Given the description of an element on the screen output the (x, y) to click on. 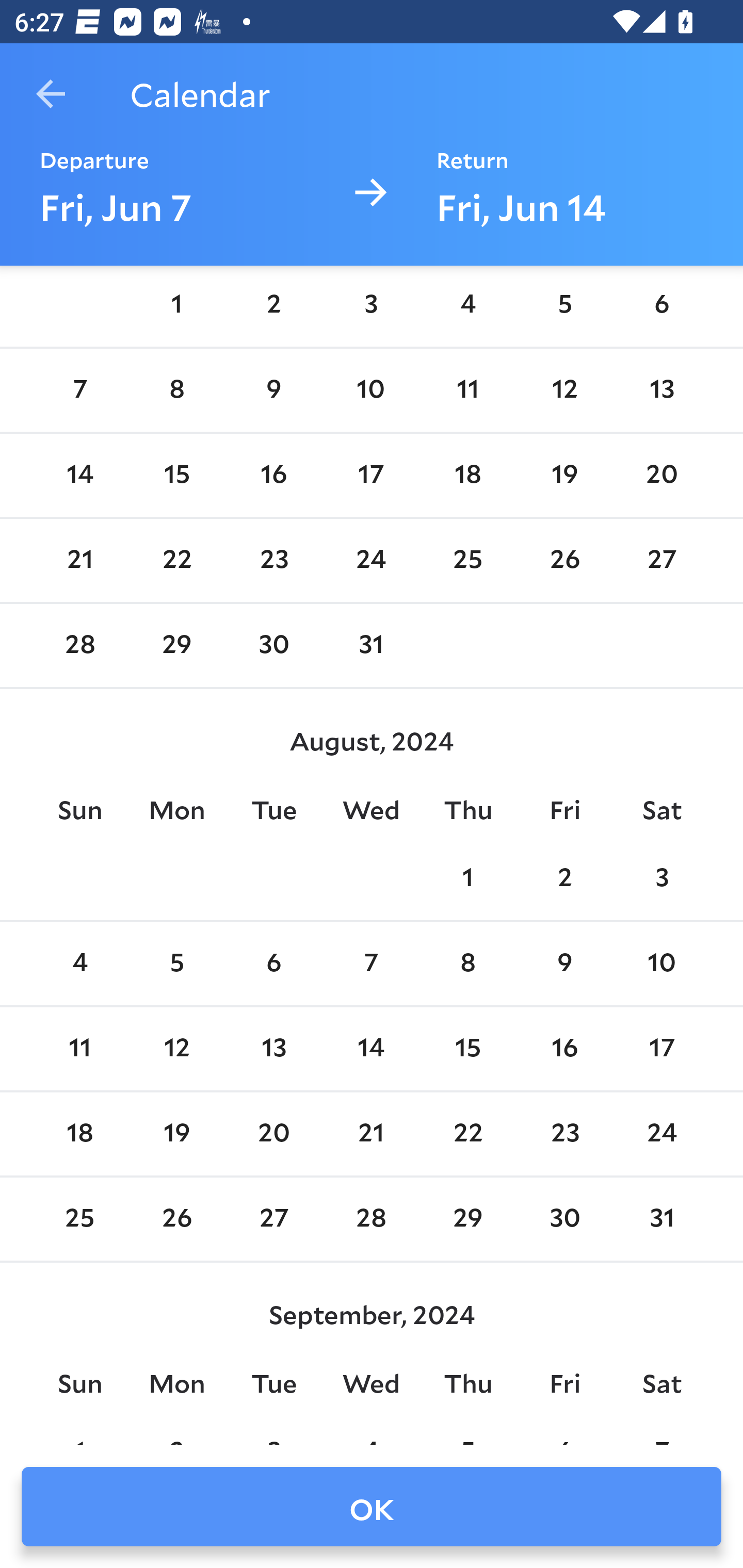
Navigate up (50, 93)
1 (177, 305)
2 (273, 305)
3 (371, 305)
4 (467, 305)
5 (565, 305)
6 (661, 305)
7 (79, 390)
8 (177, 390)
9 (273, 390)
10 (371, 390)
11 (467, 390)
12 (565, 390)
13 (661, 390)
14 (79, 475)
15 (177, 475)
16 (273, 475)
17 (371, 475)
18 (467, 475)
19 (565, 475)
20 (661, 475)
21 (79, 561)
22 (177, 561)
23 (273, 561)
24 (371, 561)
25 (467, 561)
26 (565, 561)
27 (661, 561)
28 (79, 645)
29 (177, 645)
30 (273, 645)
31 (371, 645)
1 (467, 879)
2 (565, 879)
3 (661, 879)
4 (79, 964)
5 (177, 964)
6 (273, 964)
7 (371, 964)
8 (467, 964)
9 (565, 964)
10 (661, 964)
11 (79, 1048)
12 (177, 1048)
13 (273, 1048)
14 (371, 1048)
15 (467, 1048)
16 (565, 1048)
17 (661, 1048)
18 (79, 1133)
